Given the description of an element on the screen output the (x, y) to click on. 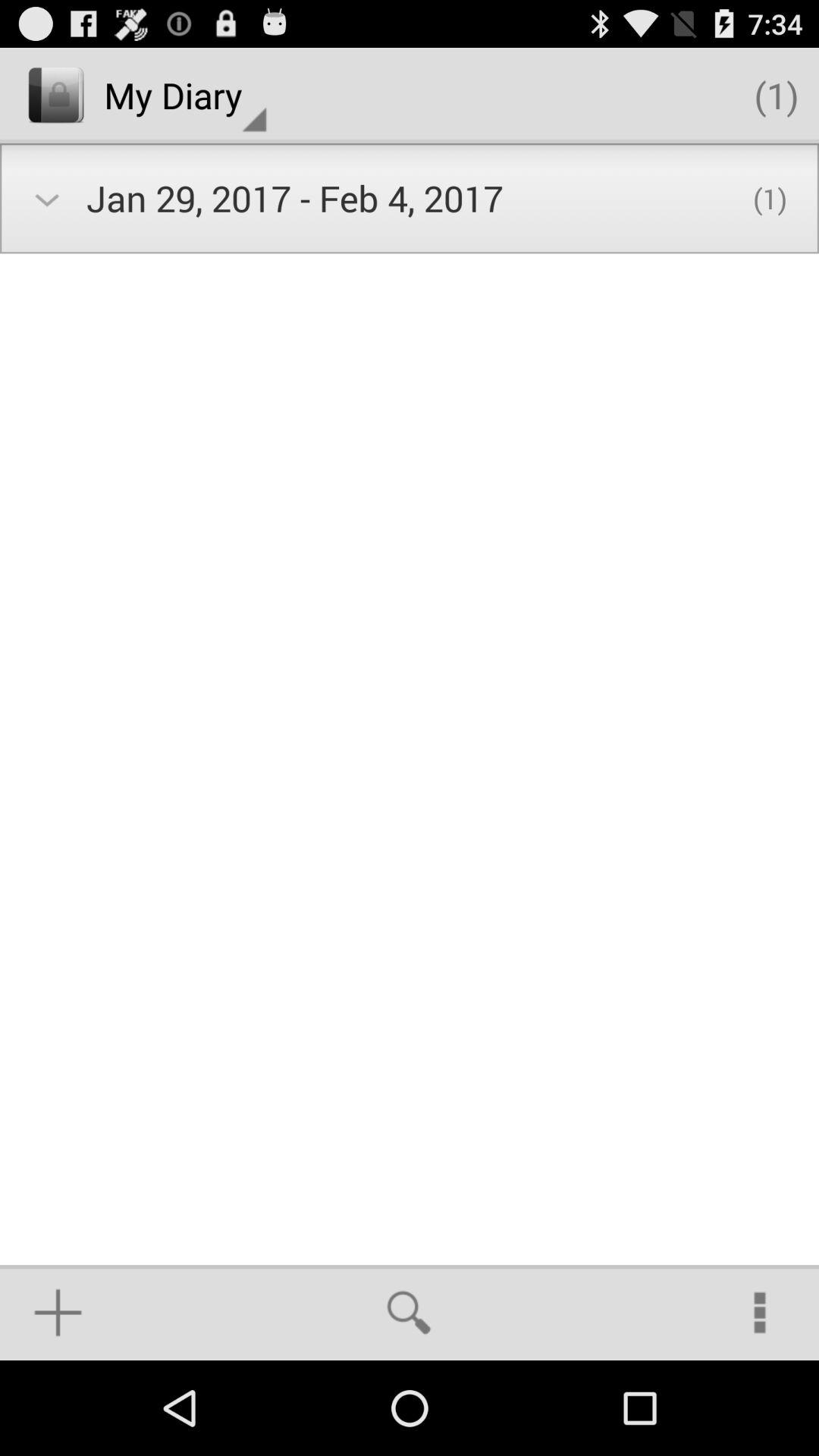
tap the icon next to the (1) app (185, 95)
